Given the description of an element on the screen output the (x, y) to click on. 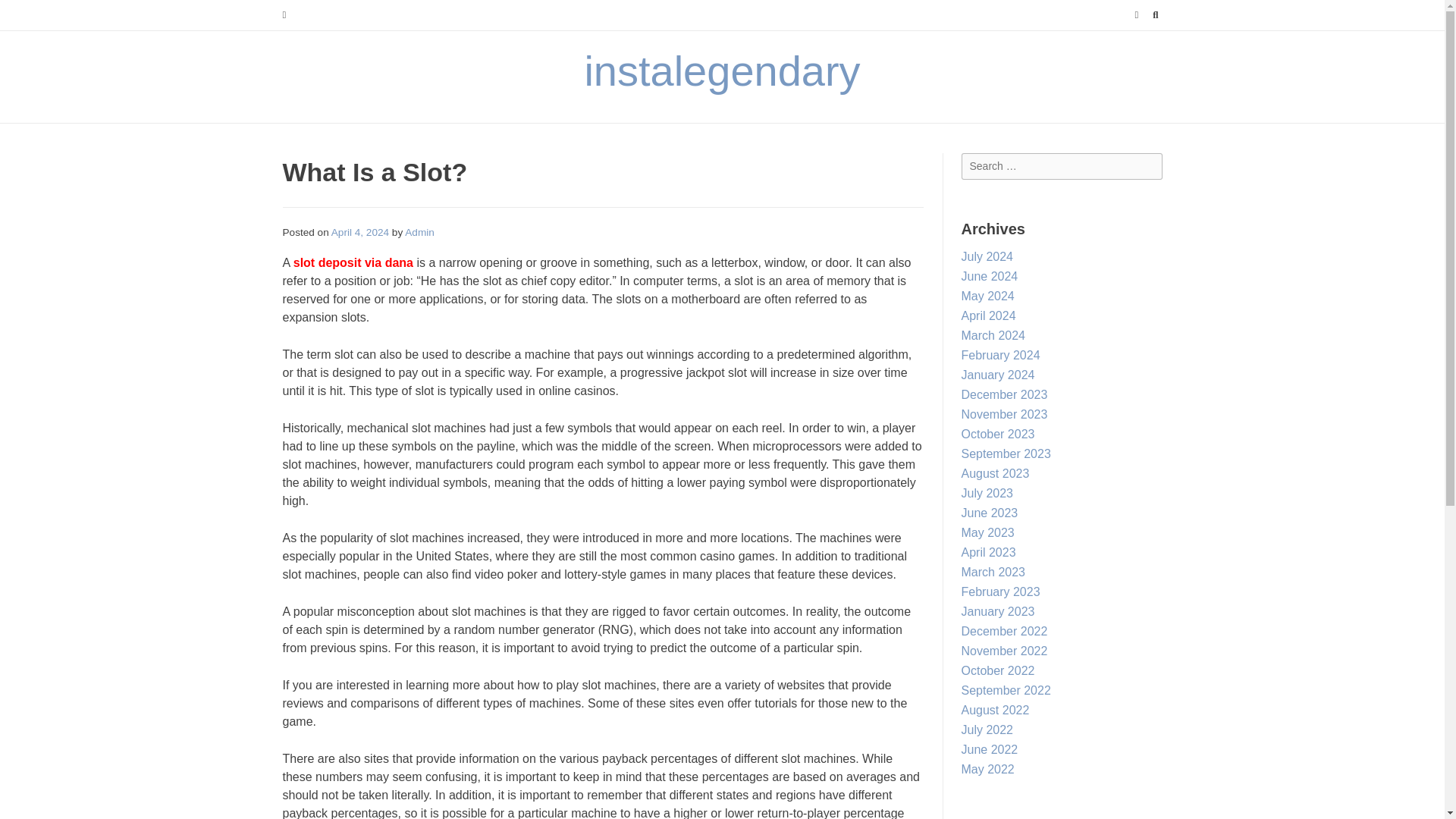
June 2023 (988, 512)
April 2024 (988, 315)
May 2023 (987, 532)
Search (27, 13)
August 2022 (994, 709)
February 2024 (1000, 354)
December 2022 (1004, 631)
instalegendary (721, 70)
June 2024 (988, 276)
October 2022 (997, 670)
March 2024 (993, 335)
June 2022 (988, 748)
May 2022 (987, 768)
August 2023 (994, 472)
September 2022 (1005, 689)
